Given the description of an element on the screen output the (x, y) to click on. 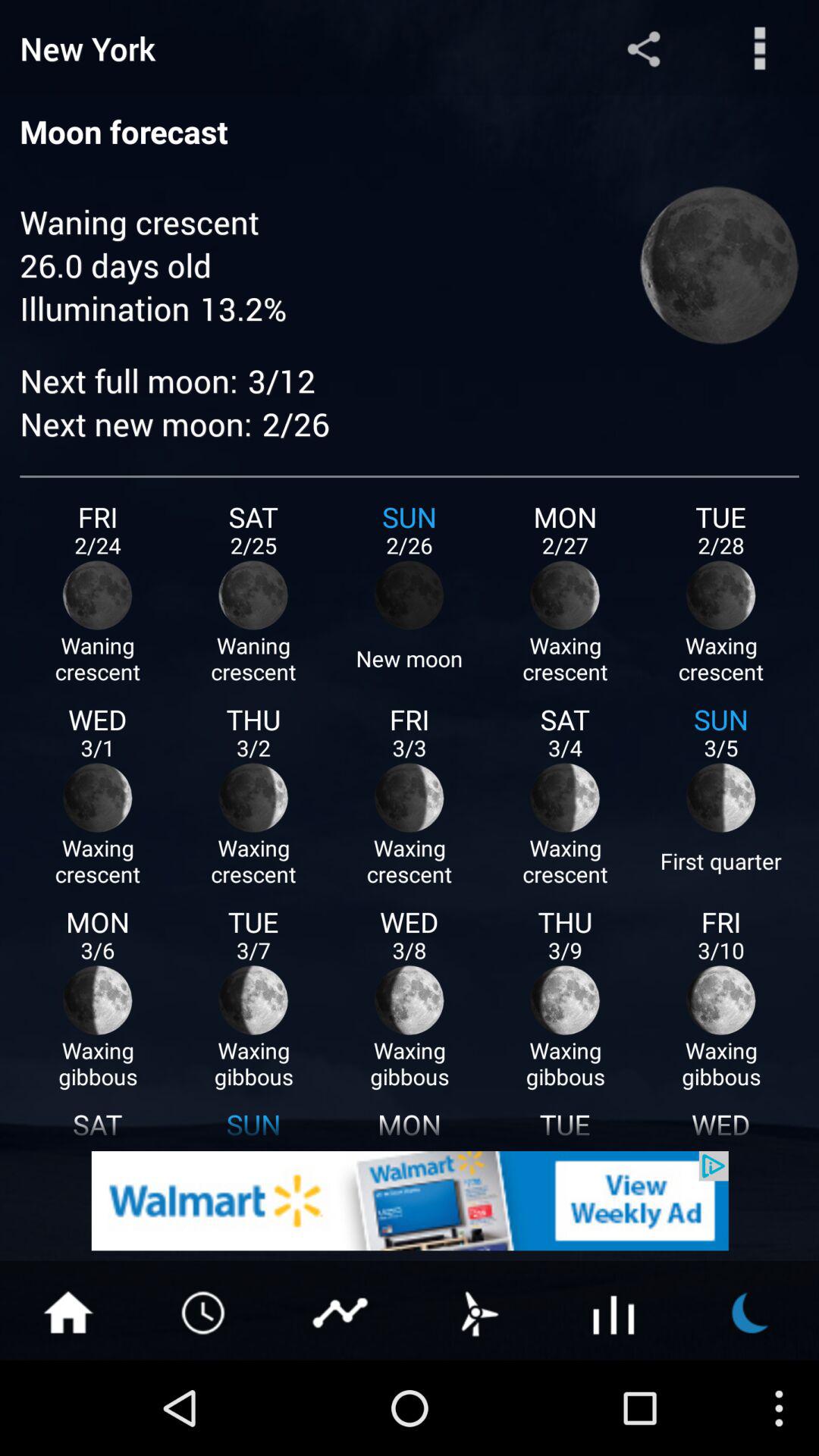
explore settings (759, 48)
